Given the description of an element on the screen output the (x, y) to click on. 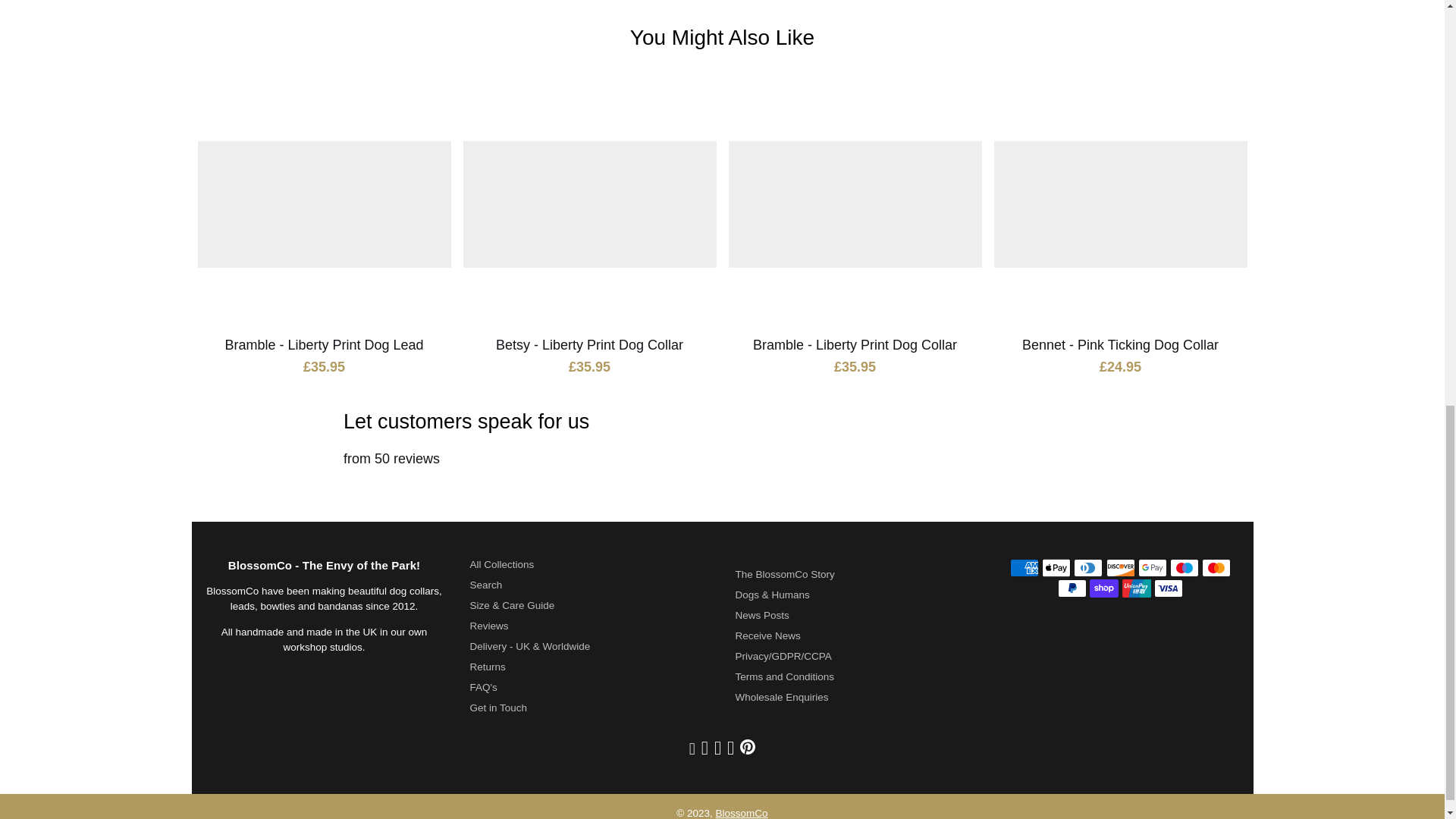
Visa (1168, 588)
Shop Pay (1103, 588)
Apple Pay (1056, 567)
Diners Club (1088, 567)
American Express (1024, 567)
Union Pay (1136, 588)
Mastercard (1216, 567)
PayPal (1072, 588)
Google Pay (1152, 567)
Discover (1119, 567)
